Given the description of an element on the screen output the (x, y) to click on. 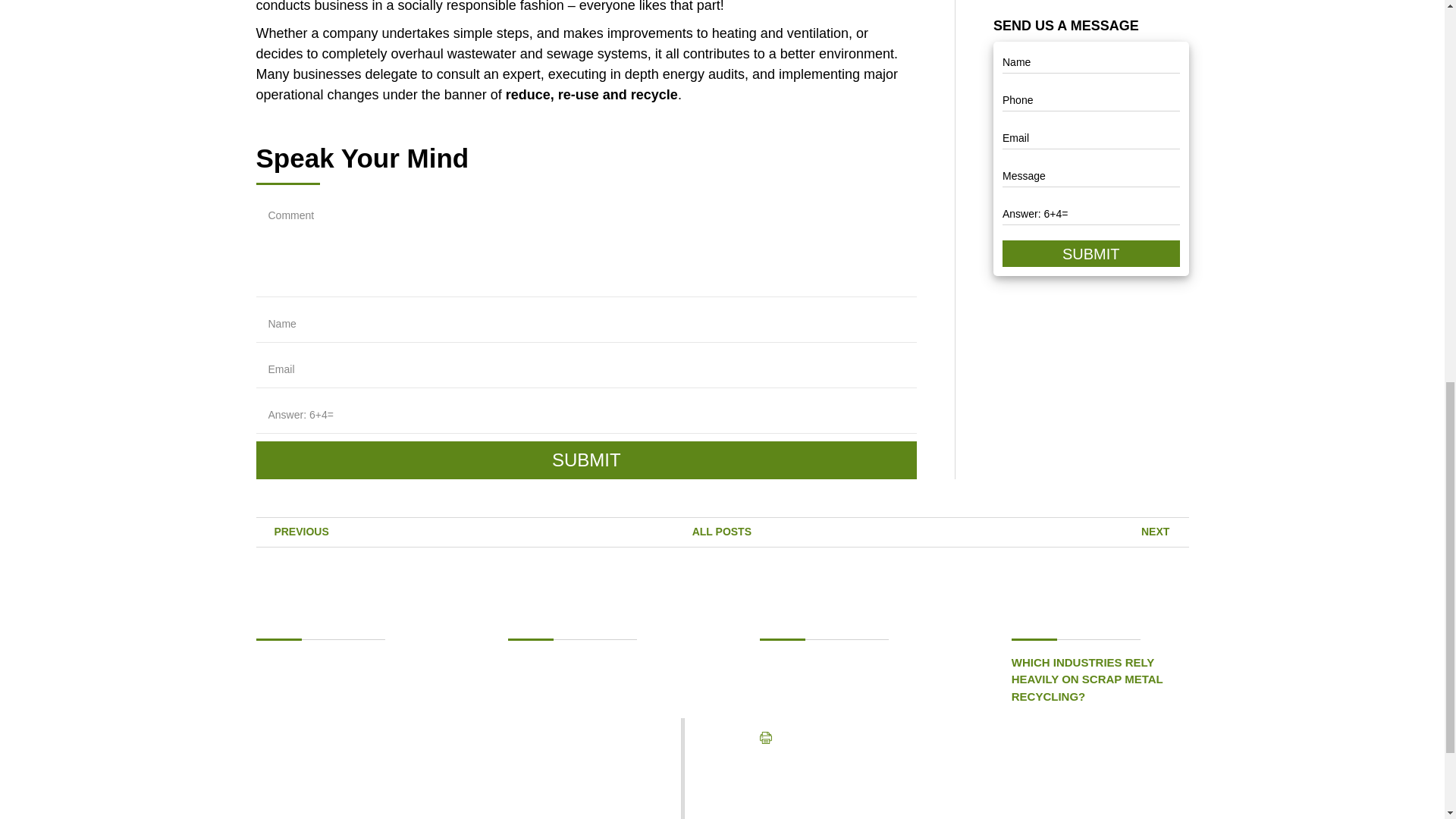
PREVIOUS (292, 531)
SUBMIT (1091, 253)
SUBMIT (586, 460)
